Given the description of an element on the screen output the (x, y) to click on. 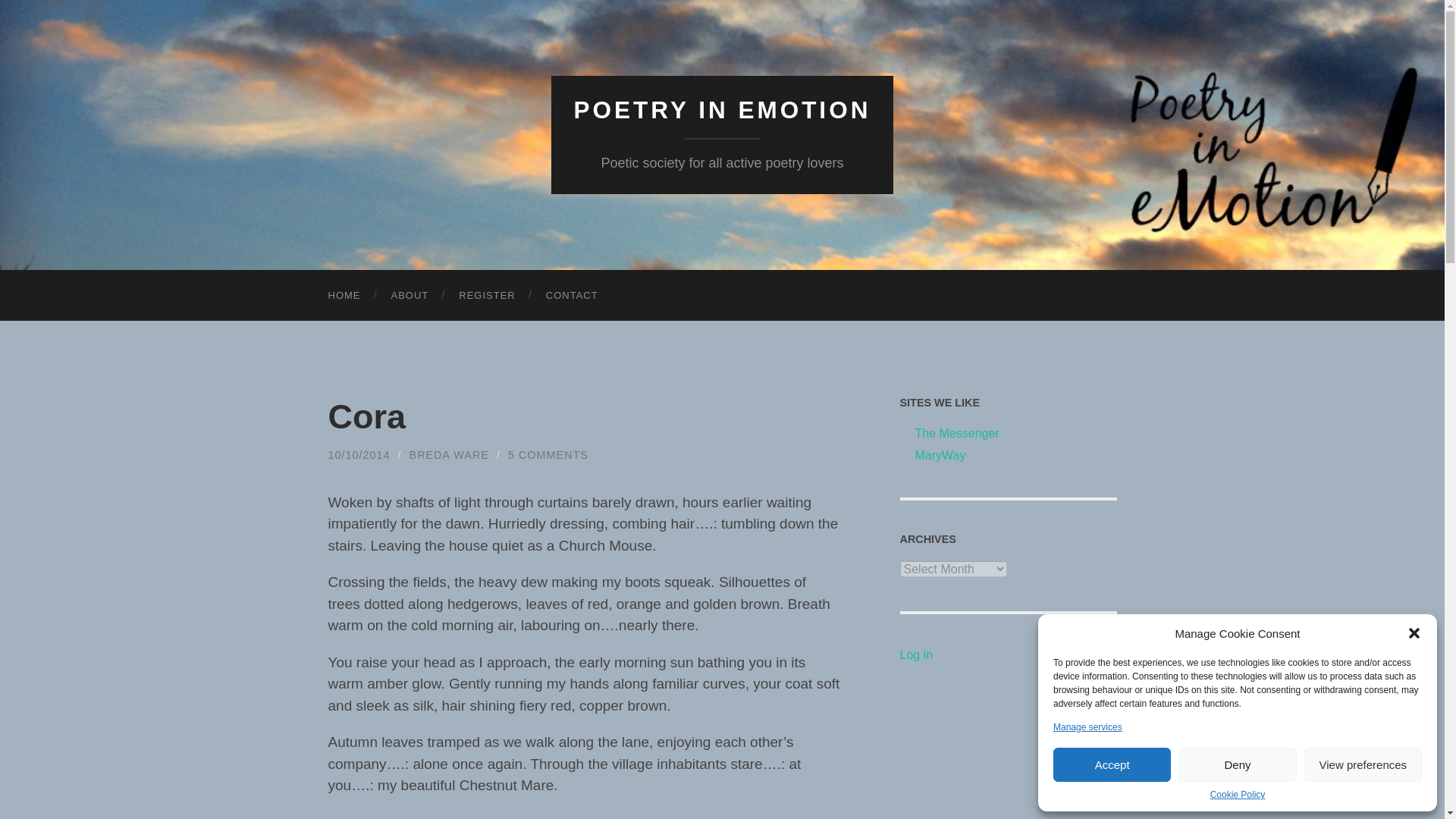
REGISTER (486, 295)
BREDA WARE (449, 454)
View preferences (1363, 764)
ABOUT (409, 295)
Accept (1111, 764)
5 COMMENTS (548, 454)
Posts by breda ware (449, 454)
Manage services (1087, 726)
Cookie Policy (1237, 794)
HOME (344, 295)
Deny (1236, 764)
POETRY IN EMOTION (721, 109)
CONTACT (571, 295)
